Given the description of an element on the screen output the (x, y) to click on. 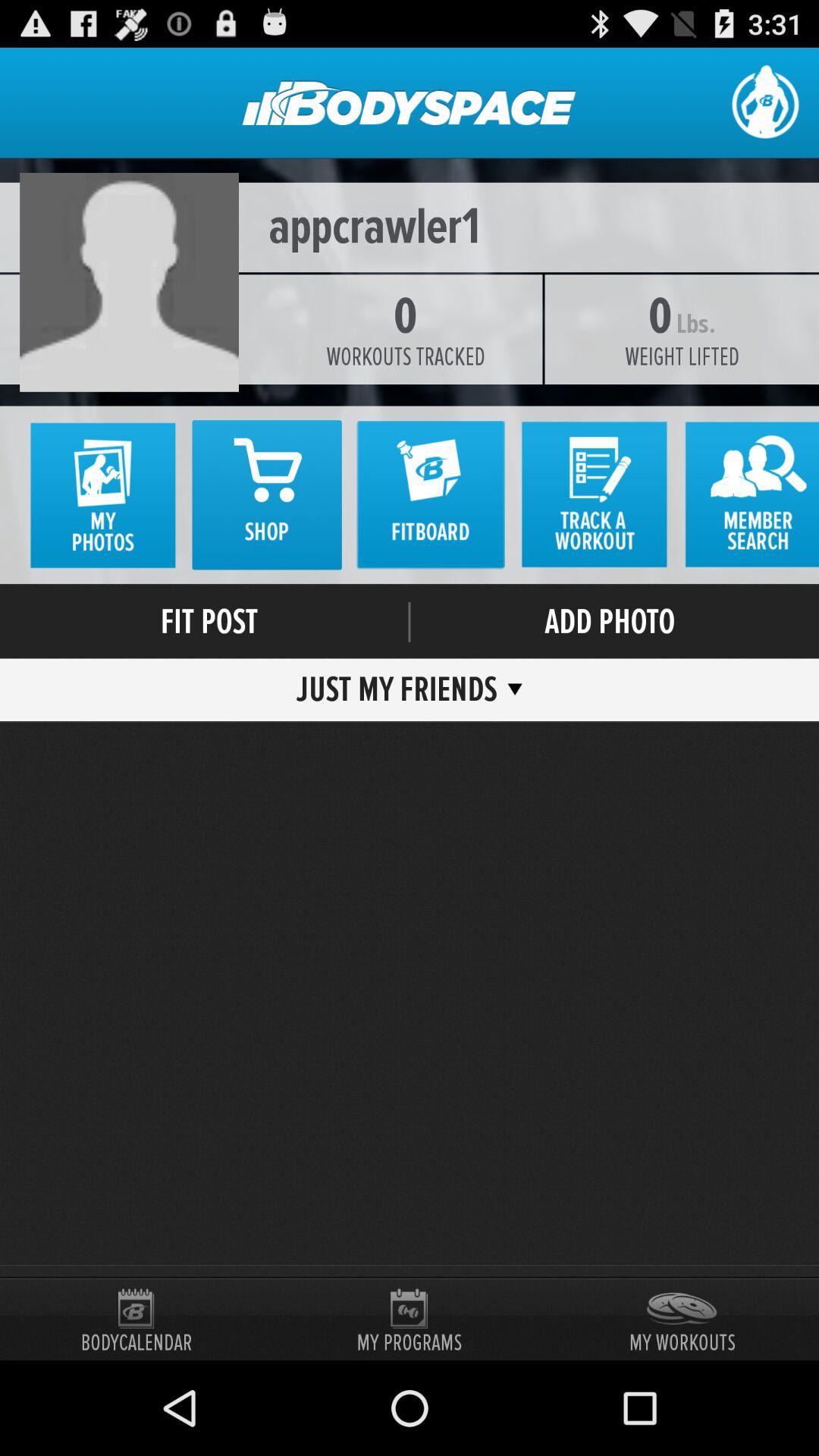
turn off the icon to the right of fit post (409, 622)
